Given the description of an element on the screen output the (x, y) to click on. 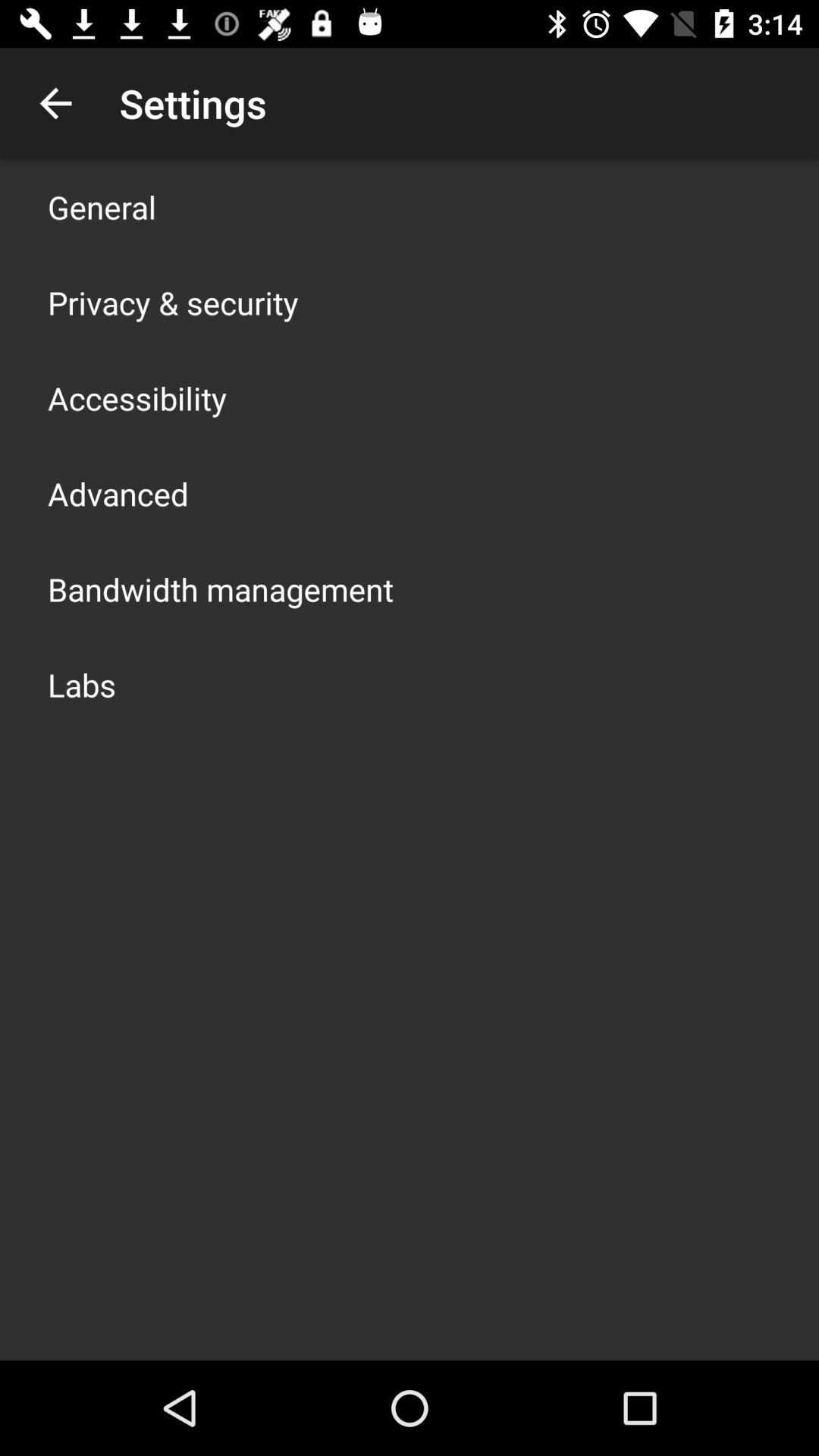
turn off the advanced item (117, 493)
